Given the description of an element on the screen output the (x, y) to click on. 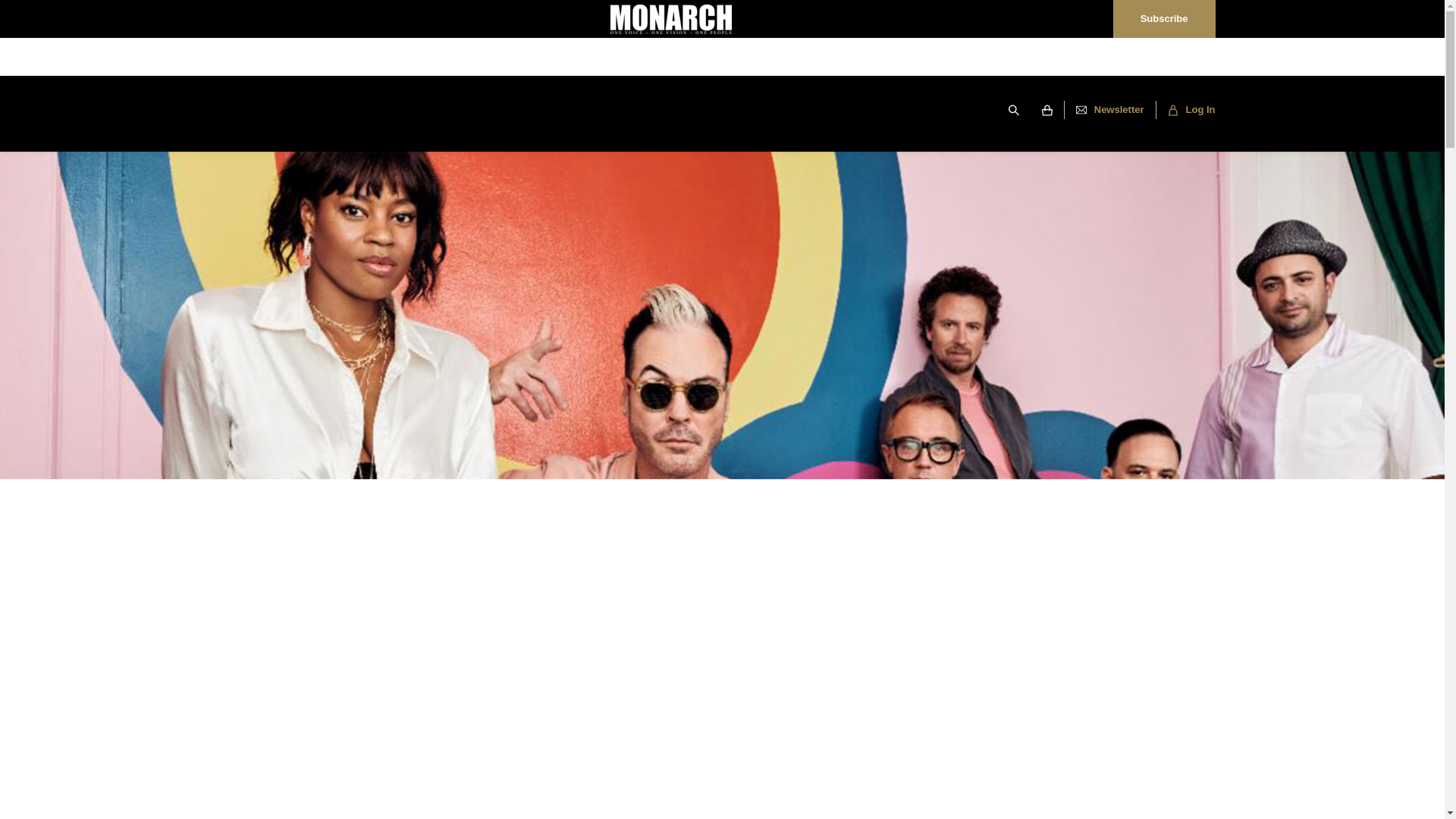
Subscribe (1163, 18)
VANGUARD NATION PODCAST (537, 110)
Newsletter (1110, 109)
JOIN THE CLUB (886, 110)
VIDEO (797, 110)
Log In (1185, 109)
EDITORIAL (402, 110)
BRAND EXTENSIONS (697, 110)
FEATURED (315, 110)
